Given the description of an element on the screen output the (x, y) to click on. 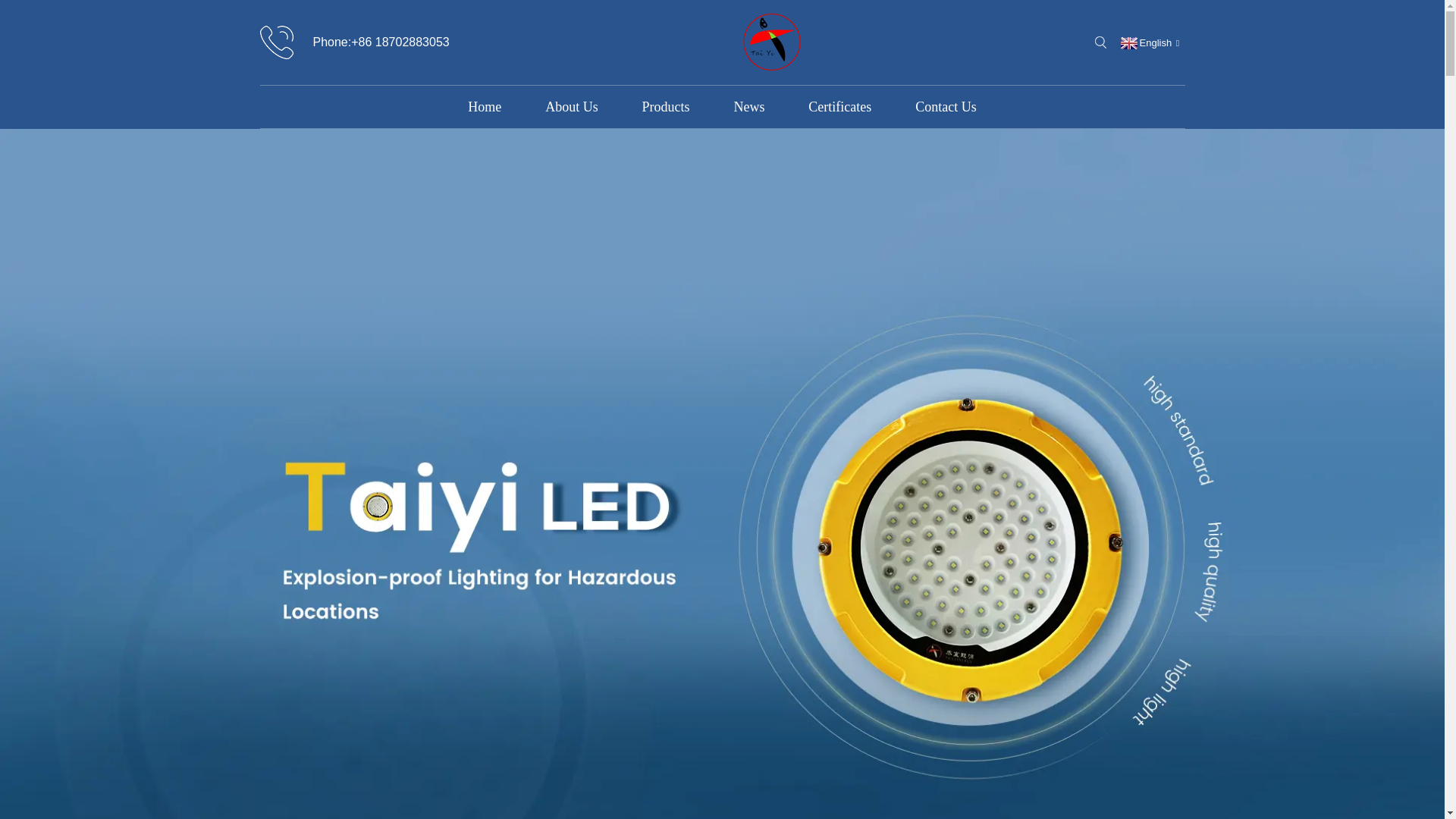
English (1147, 42)
Products (666, 106)
Contact Us (945, 106)
About Us (571, 106)
Home (483, 106)
English (1147, 42)
Certificates (839, 106)
News (748, 106)
